Given the description of an element on the screen output the (x, y) to click on. 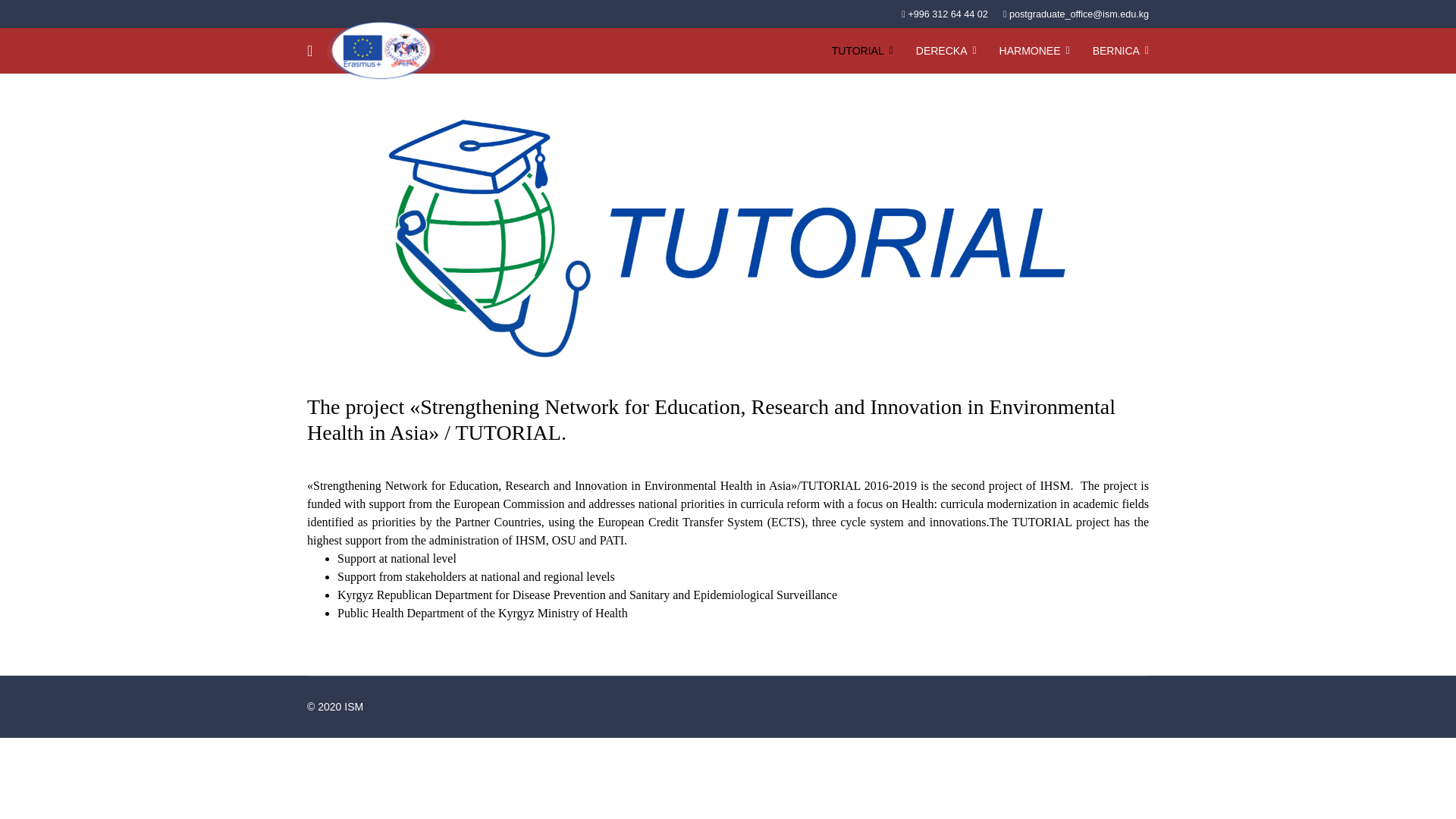
TUTORIAL (862, 50)
BERNICA (1120, 50)
HARMONEE (1034, 50)
DERECKA (946, 50)
